Given the description of an element on the screen output the (x, y) to click on. 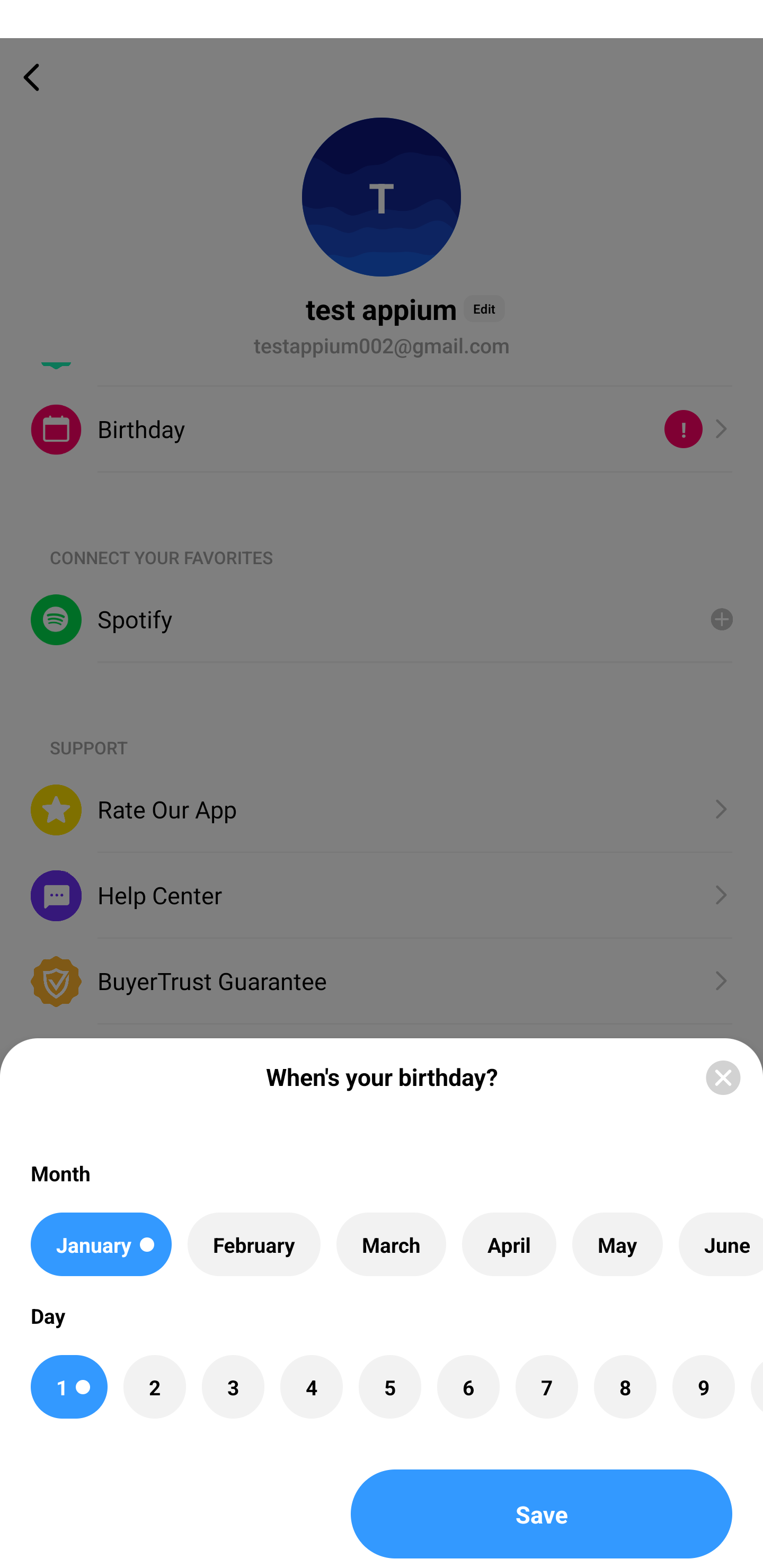
January (100, 1244)
February (253, 1244)
March (391, 1244)
April (509, 1244)
May (617, 1244)
June (721, 1244)
1 (68, 1386)
2 (154, 1386)
3 (233, 1386)
4 (311, 1386)
5 (389, 1386)
6 (468, 1386)
7 (546, 1386)
8 (624, 1386)
9 (703, 1386)
Save (541, 1513)
